Given the description of an element on the screen output the (x, y) to click on. 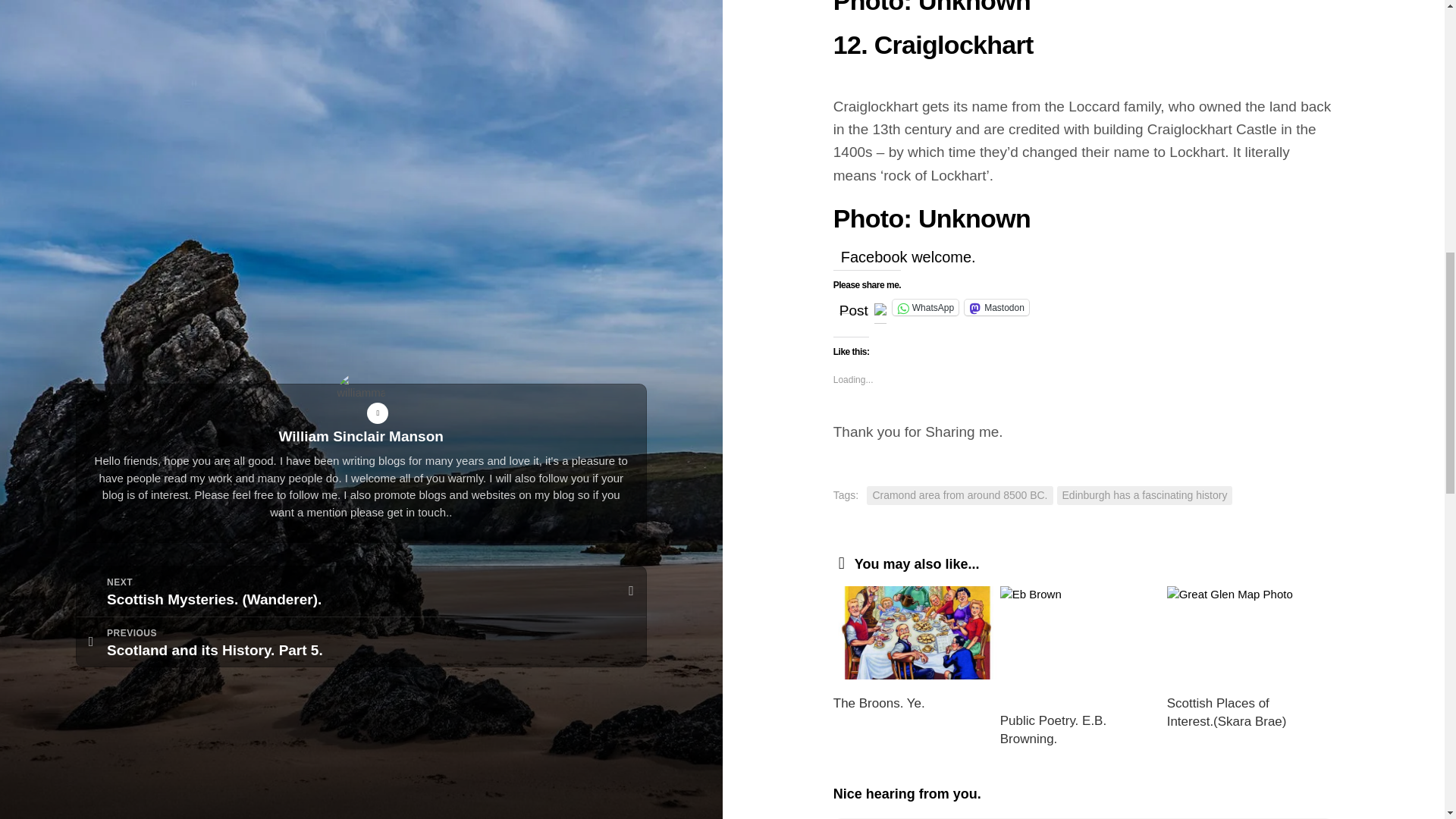
WhatsApp (925, 307)
Cramond area from around 8500 BC. (959, 495)
Click to share on WhatsApp (925, 307)
Mastodon (996, 307)
Click to share on Mastodon (996, 307)
Post (853, 305)
The Broons. Ye. (878, 703)
Public Poetry. E.B. Browning. (1053, 729)
Edinburgh has a fascinating history (1145, 495)
